Given the description of an element on the screen output the (x, y) to click on. 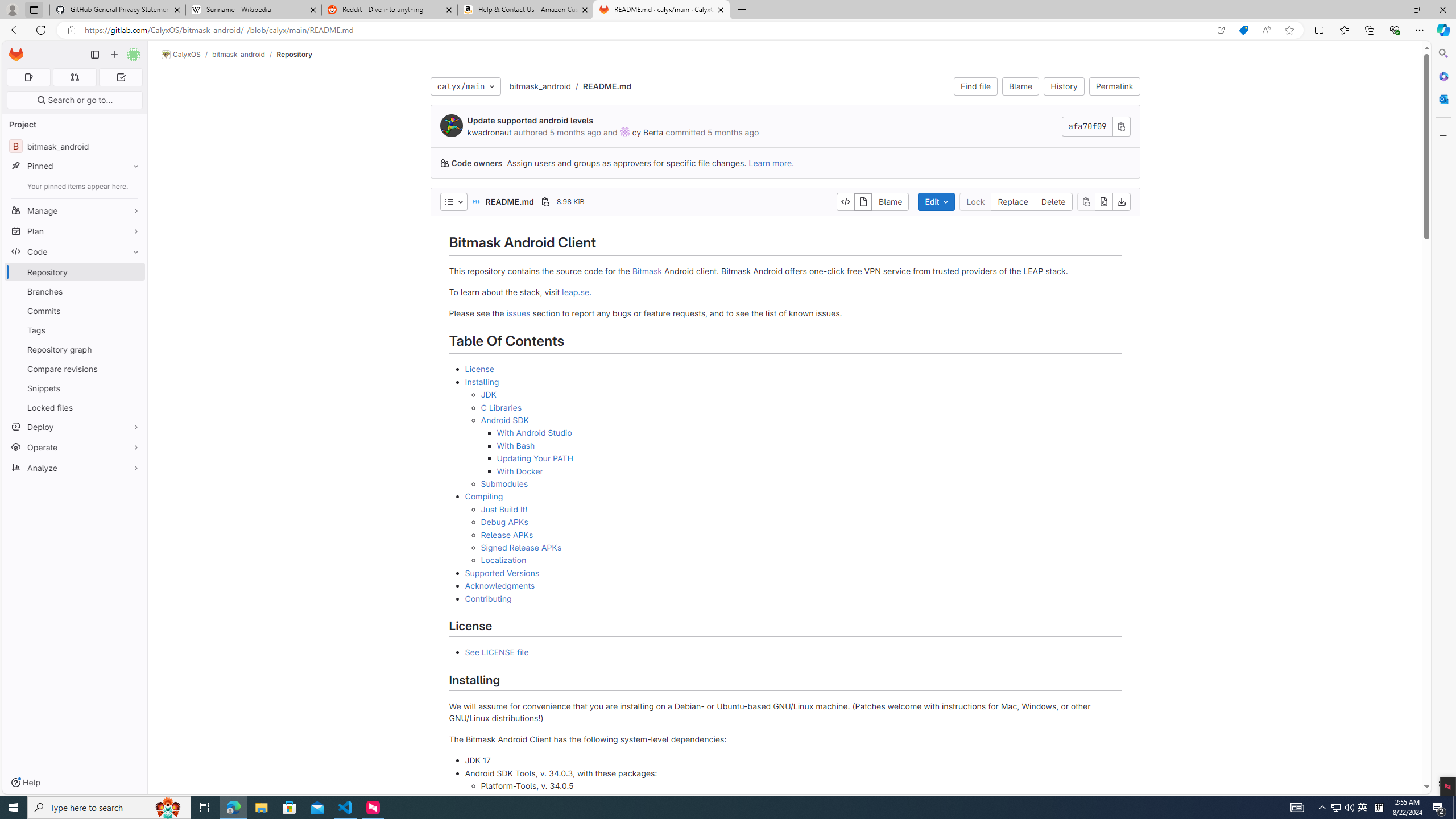
License (478, 368)
cy Berta's avatar (624, 131)
Contributing (792, 598)
Pin Tags (132, 329)
Localization (800, 559)
Build-Tools, API v. 34 (800, 798)
bitmask_android/ (244, 53)
Lock (975, 201)
Signed Release APKs (800, 547)
Edit (936, 201)
With Docker (519, 470)
Find file (975, 85)
